Given the description of an element on the screen output the (x, y) to click on. 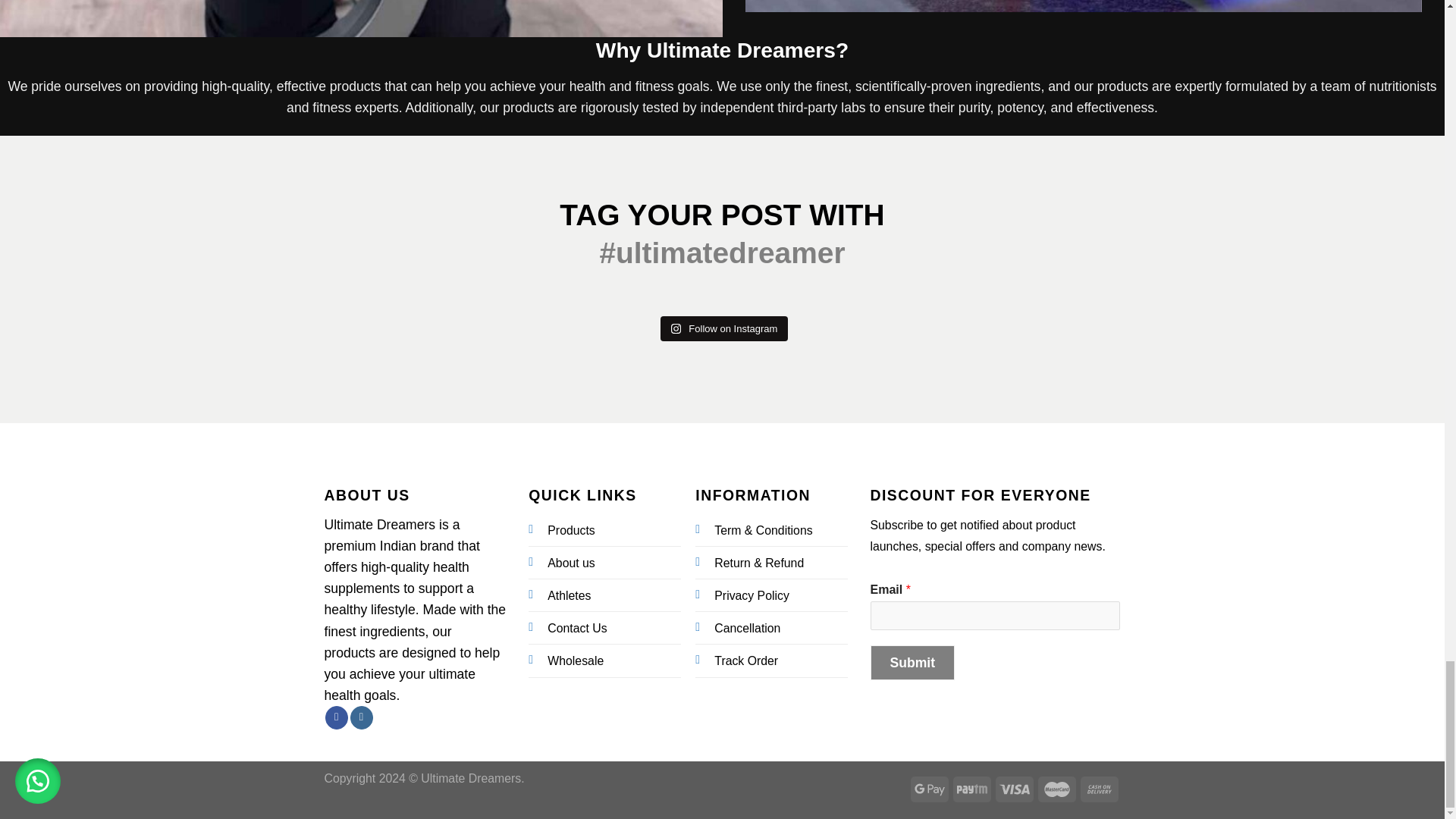
Follow on Facebook (335, 717)
